Given the description of an element on the screen output the (x, y) to click on. 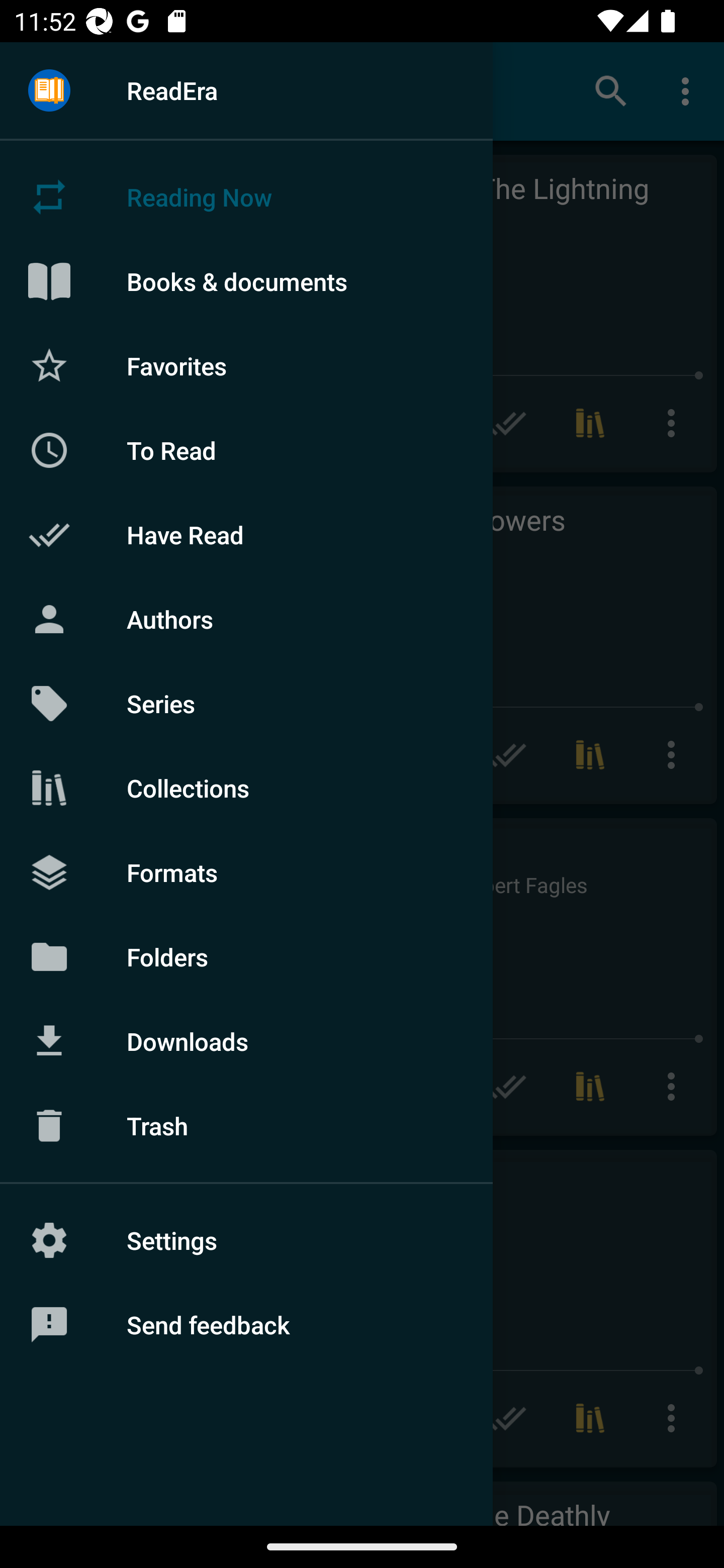
Menu (49, 91)
ReadEra (246, 89)
Search books & documents (611, 90)
More options (688, 90)
Reading Now (246, 197)
Books & documents (246, 281)
Favorites (246, 365)
To Read (246, 449)
Have Read (246, 534)
Authors (246, 619)
Series (246, 703)
Collections (246, 787)
Formats (246, 871)
Folders (246, 956)
Downloads (246, 1040)
Trash (246, 1125)
Settings (246, 1239)
Send feedback (246, 1324)
